Given the description of an element on the screen output the (x, y) to click on. 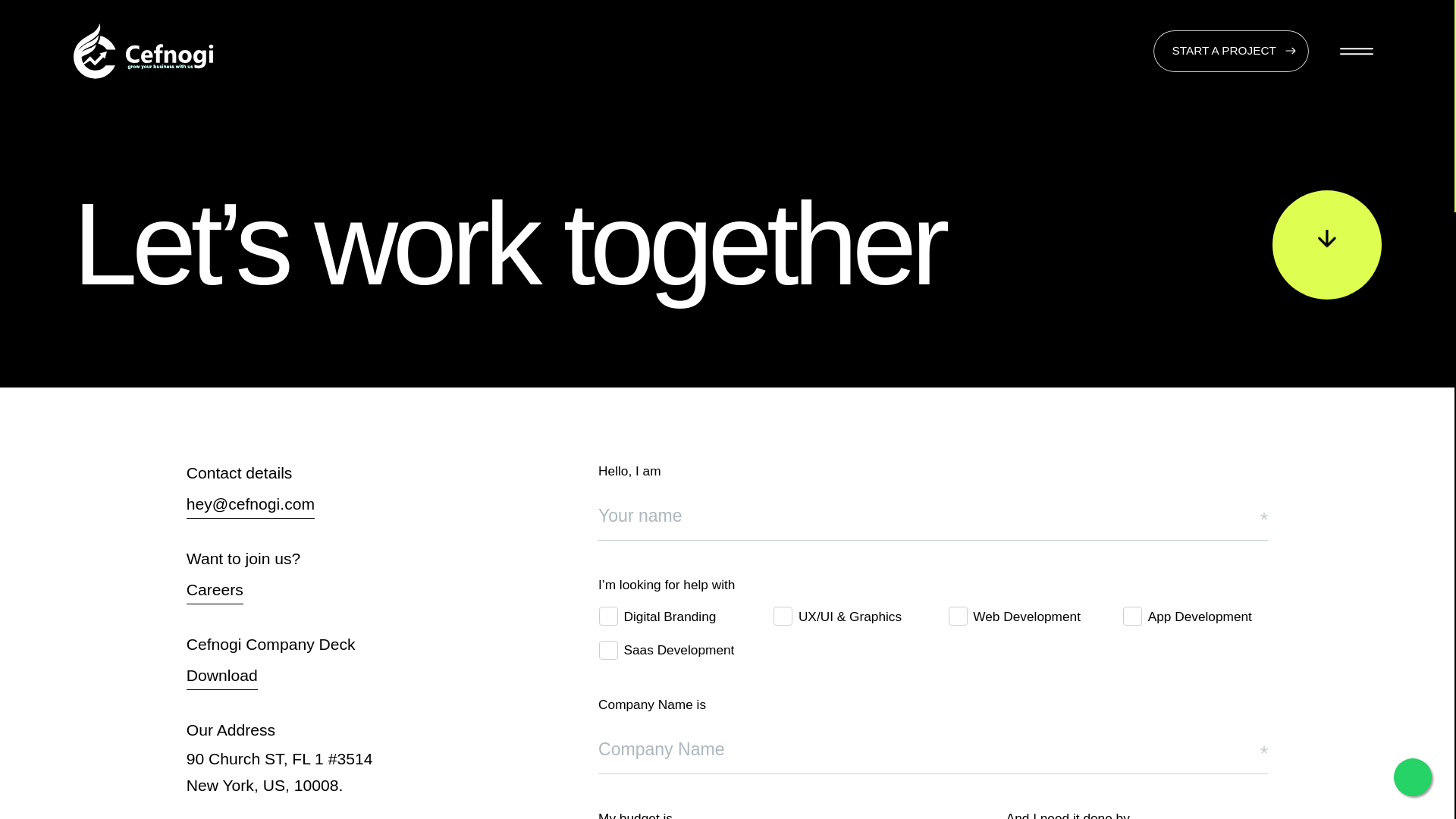
Facebook (381, 473)
twitter (370, 527)
Instagram (381, 500)
LinkedIn (377, 554)
About (277, 527)
Home (277, 473)
Blog (273, 554)
Careers (214, 590)
START A PROJECT (1230, 51)
Download (221, 676)
Work (274, 500)
Pinterest (378, 580)
